Given the description of an element on the screen output the (x, y) to click on. 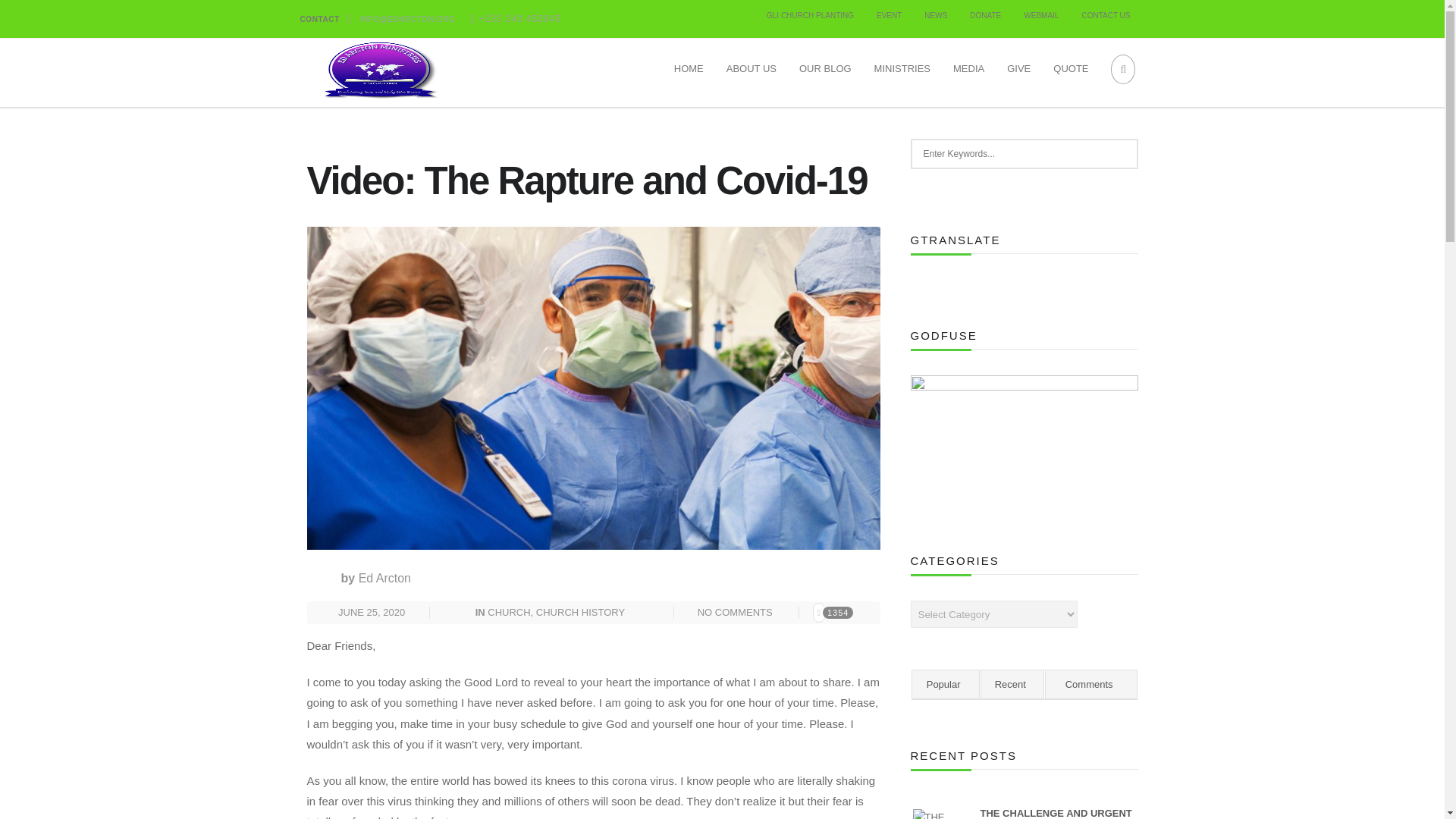
DONATE (984, 15)
GLI CHURCH PLANTING (809, 15)
Posts by Ed Arcton (384, 577)
EVENT (888, 15)
Godfuse (1023, 440)
CONTACT (319, 19)
ABOUT US (750, 69)
CONTACT US (1105, 15)
MINISTRIES (902, 69)
OUR BLOG (825, 69)
